Given the description of an element on the screen output the (x, y) to click on. 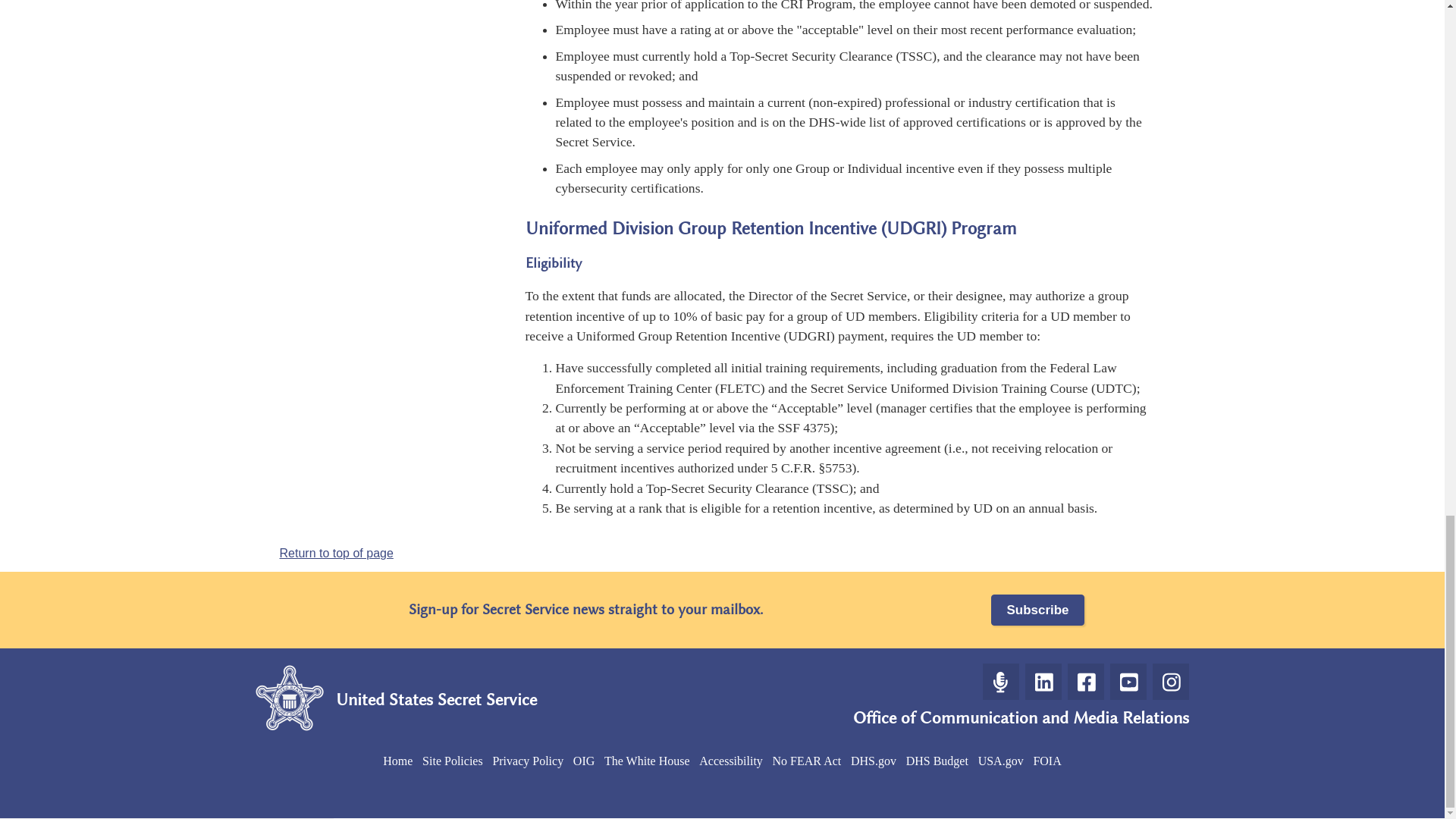
Go to privacy policy (527, 760)
Go to the Secret Service Instagram Page (1171, 681)
Go to homepage (397, 760)
Return to top of page (336, 553)
Go to the Secret Service Facebook Page (1085, 681)
Privacy Policy (527, 760)
Go to the Secret Service LinkedIn Page (1043, 681)
Subscribe (1037, 609)
Home (397, 760)
Sign up for Secret Service news (1037, 609)
Go to the Secret Service Podcast Page (1000, 681)
Go to the DHS OIG Website (583, 760)
Go to the White House Website (647, 760)
Go to the Secret Service YouTube Page (1128, 681)
Site Policies (452, 760)
